Given the description of an element on the screen output the (x, y) to click on. 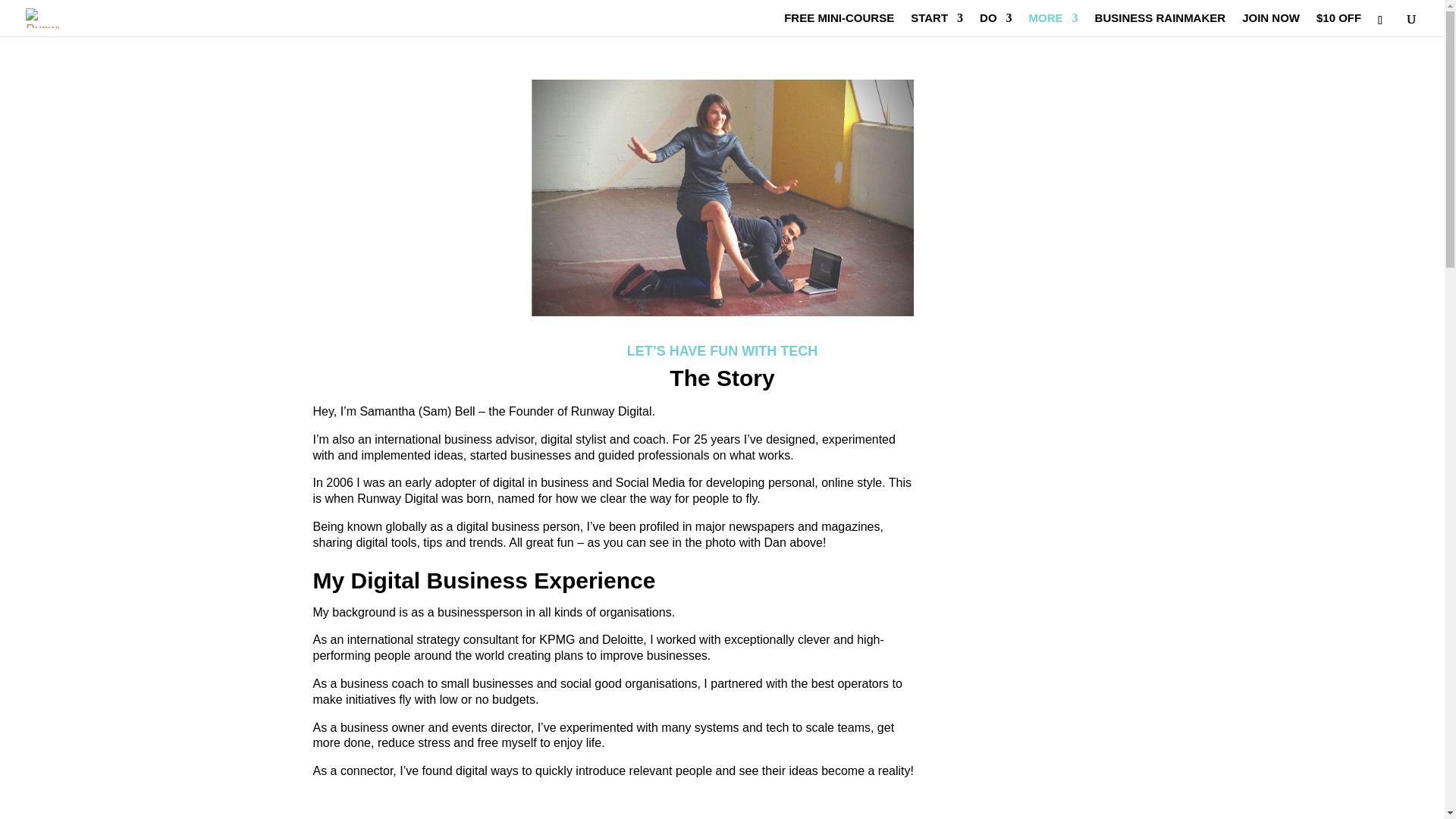
JOIN NOW (1270, 24)
BUSINESS RAINMAKER (1159, 24)
MORE (1053, 24)
START (936, 24)
FREE MINI-COURSE (838, 24)
DO (995, 24)
